Given the description of an element on the screen output the (x, y) to click on. 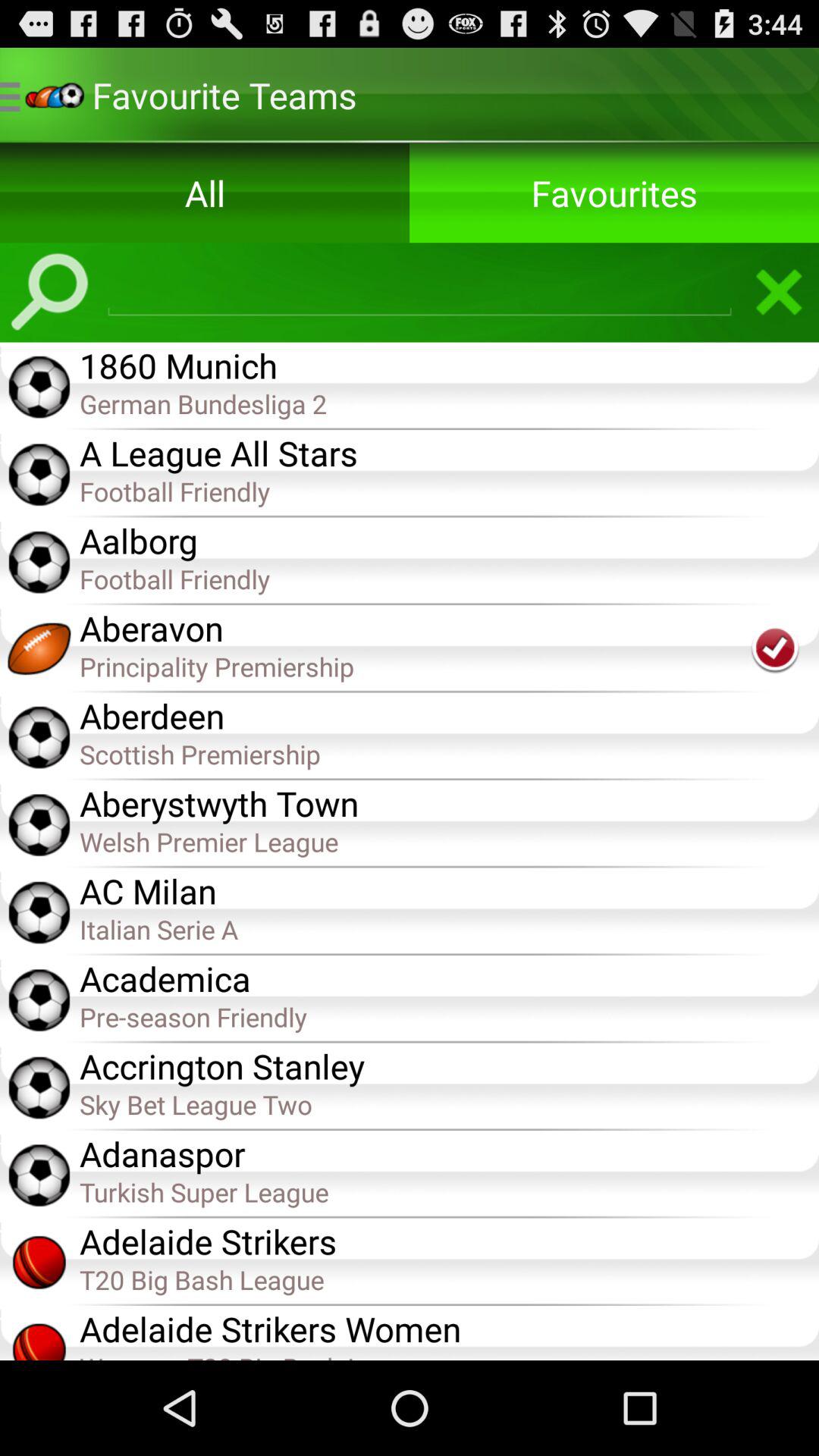
flip until the a league all icon (449, 451)
